Given the description of an element on the screen output the (x, y) to click on. 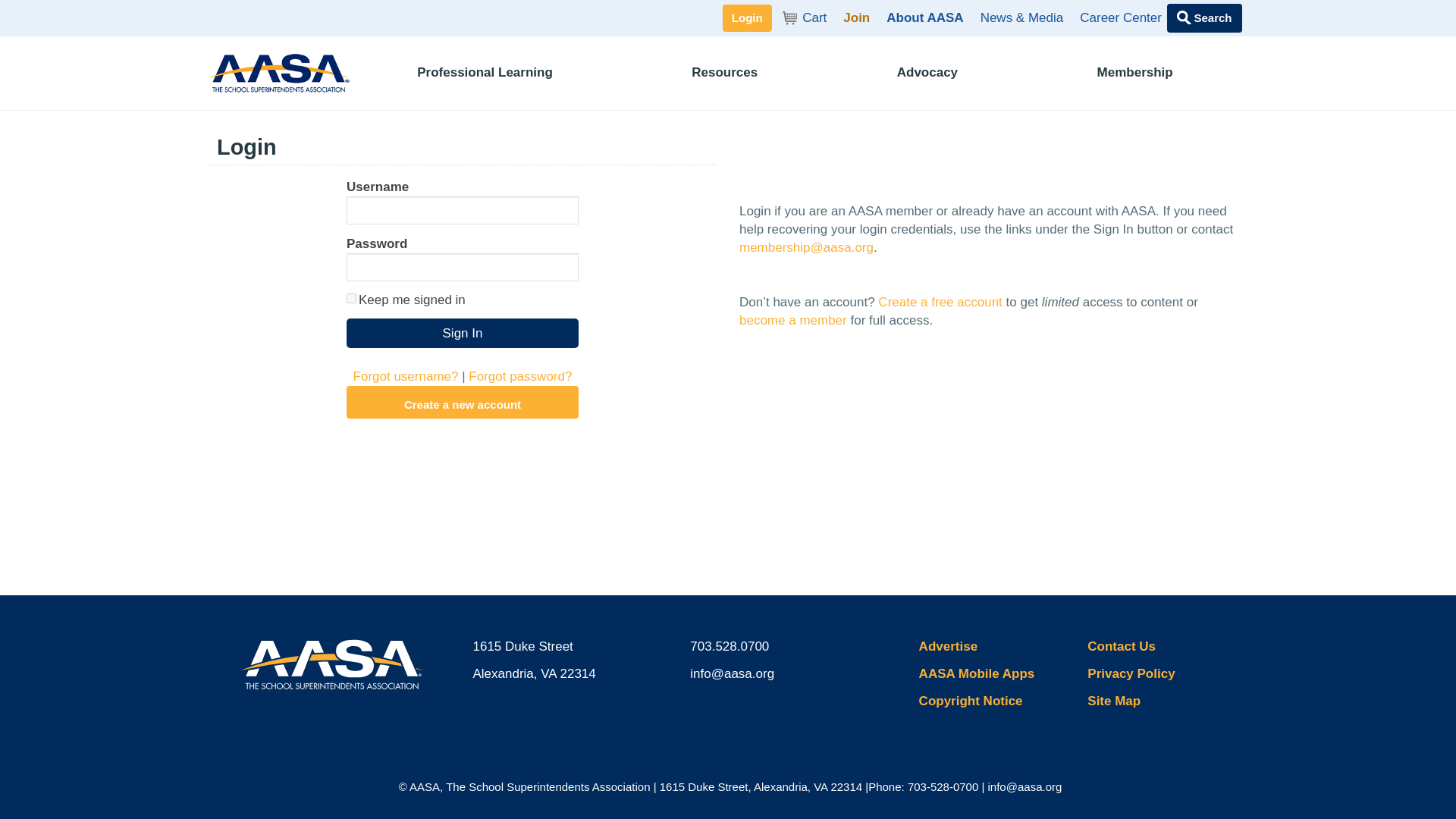
Search (1204, 18)
Sign In (1139, 72)
Career Center (462, 333)
About AASA (1120, 18)
Login (924, 18)
Cart (746, 17)
